Given the description of an element on the screen output the (x, y) to click on. 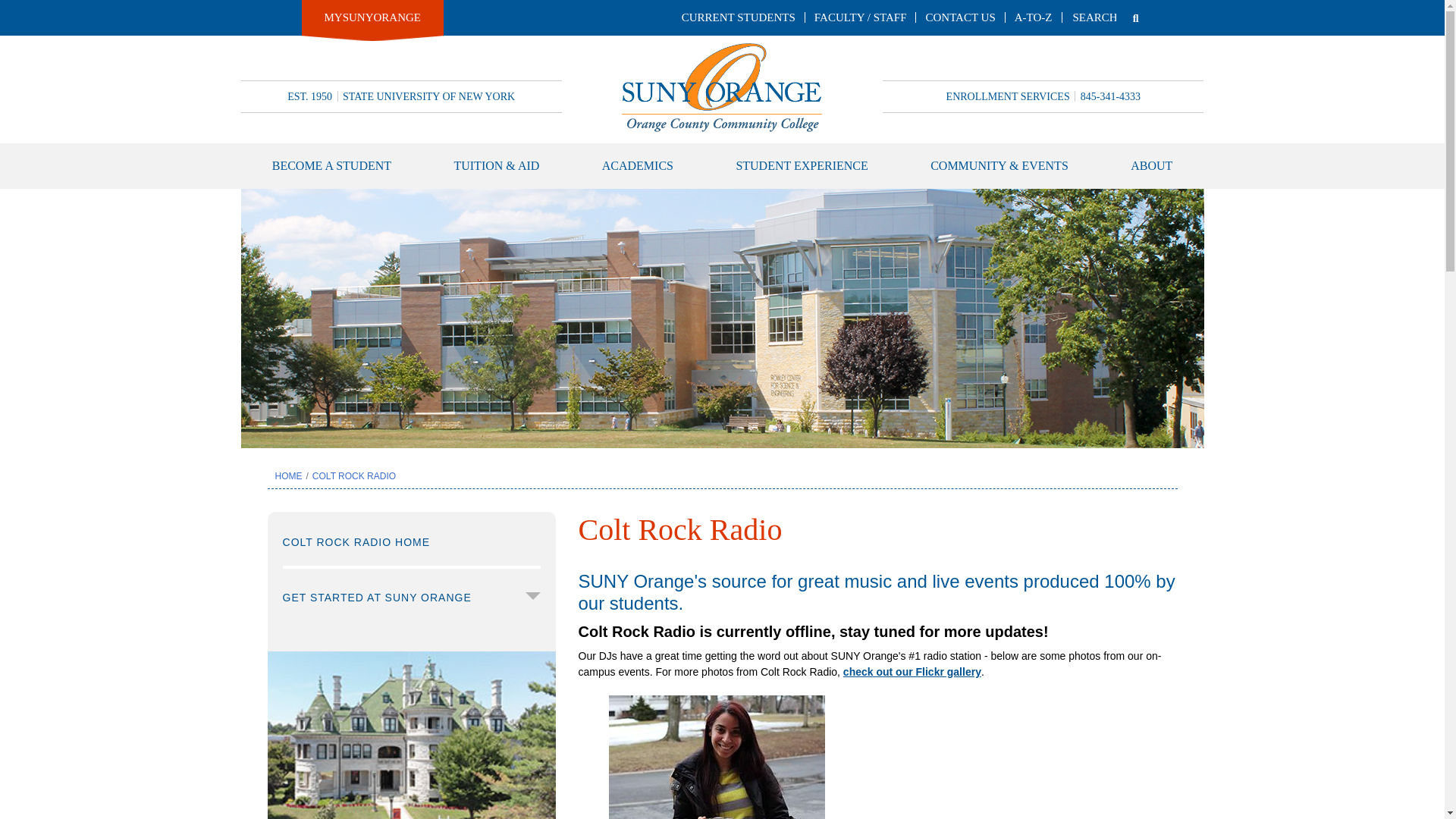
To Homepage (722, 86)
BECOME A STUDENT (332, 165)
CONTACT US (959, 17)
Become a Student (332, 165)
MYSUNYORANGE (373, 17)
A-to-Z (1033, 17)
Current Students (737, 17)
mysunyorange (373, 17)
A-TO-Z (1033, 17)
ACADEMICS (637, 165)
